Given the description of an element on the screen output the (x, y) to click on. 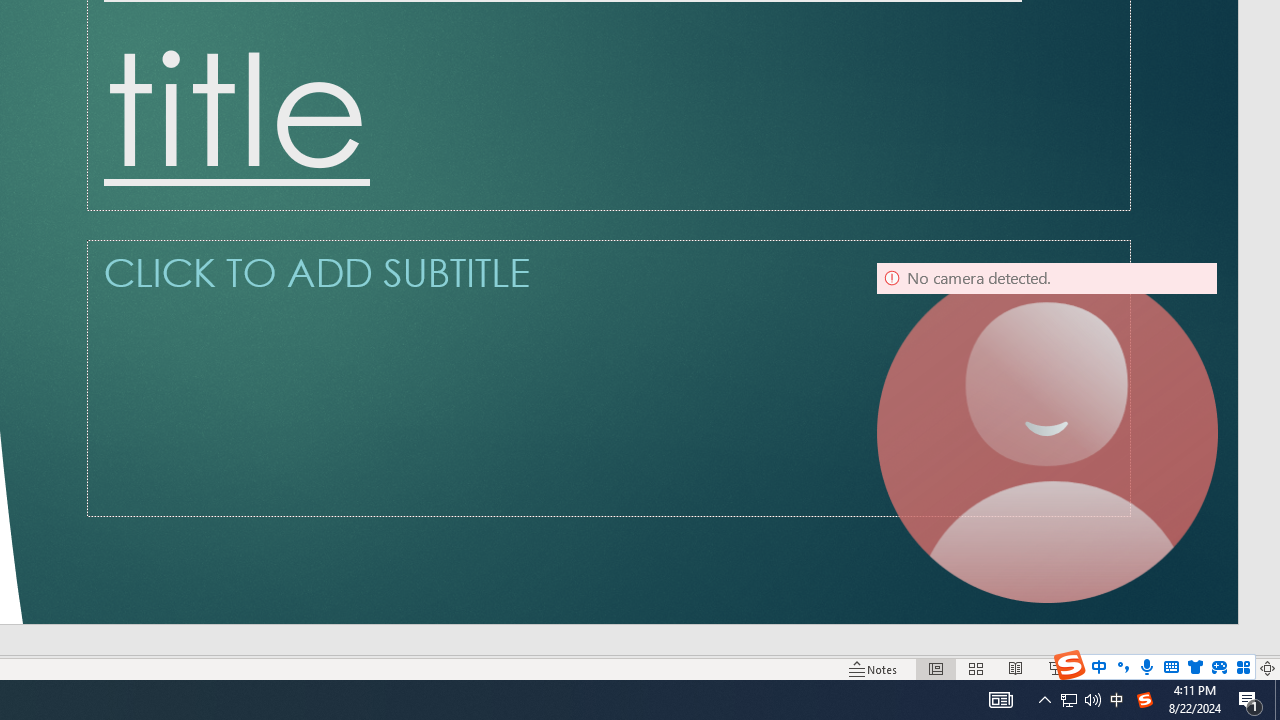
Zoom 161% (1234, 668)
